Given the description of an element on the screen output the (x, y) to click on. 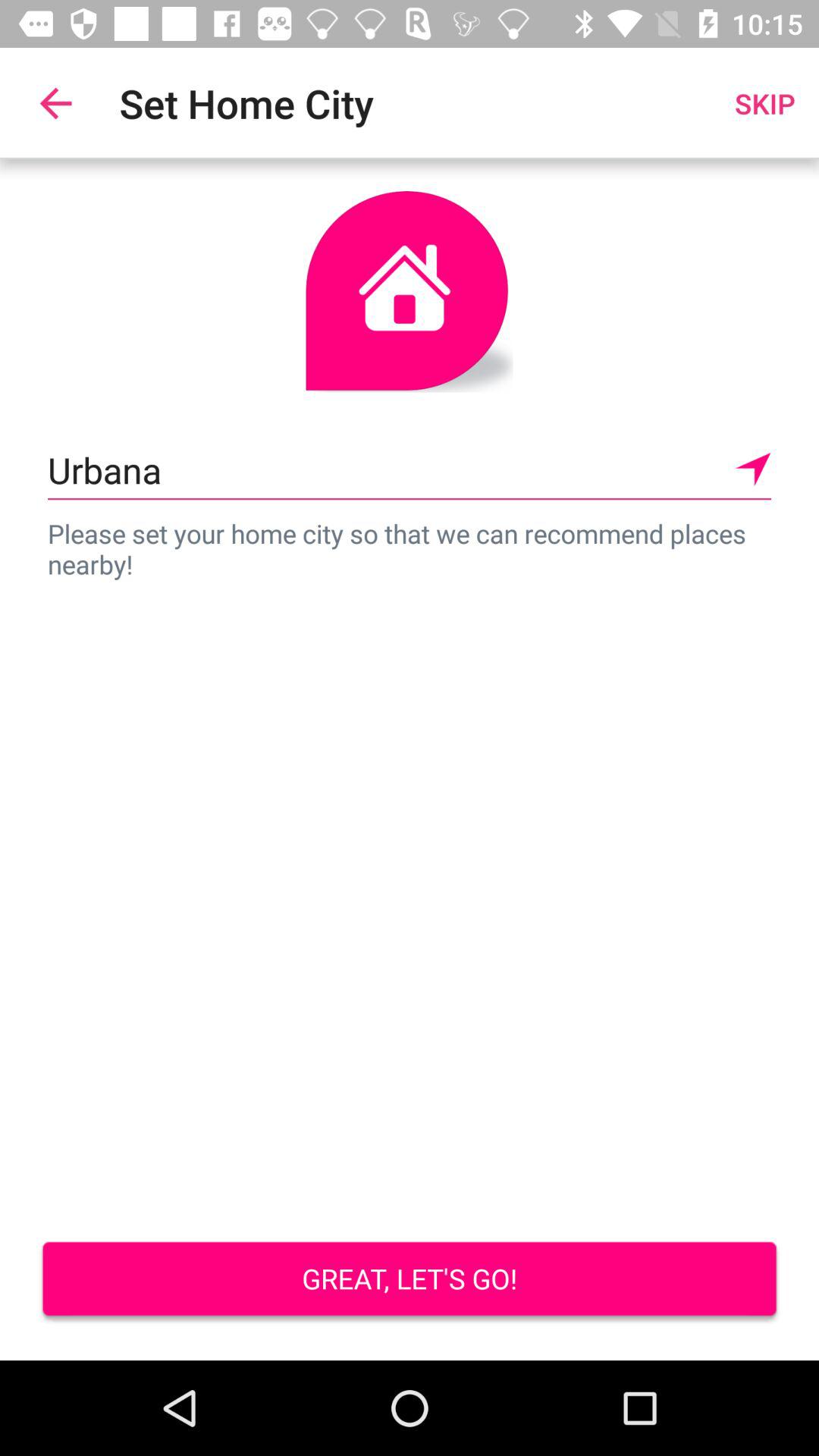
turn off the skip at the top right corner (764, 103)
